Given the description of an element on the screen output the (x, y) to click on. 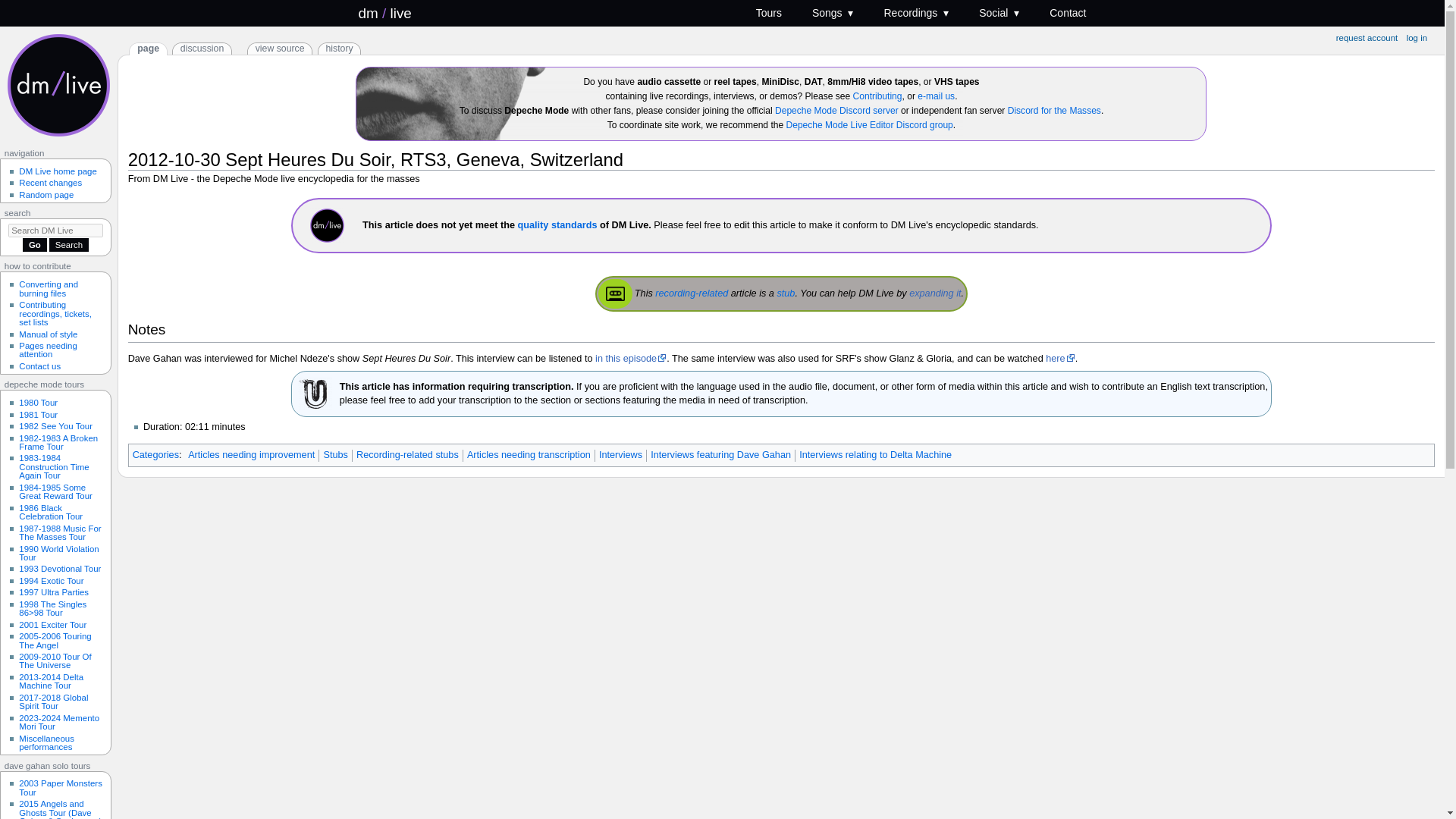
Special:Categories (155, 454)
e-mail us (936, 95)
Contributing (877, 95)
Search (68, 244)
expanding it (934, 293)
Category:Articles needing transcription (529, 454)
Category:Articles needing improvement (250, 454)
Depeche Mode Live Editor Discord group (869, 124)
Category:Recording-related stubs (691, 293)
Search (68, 244)
